Given the description of an element on the screen output the (x, y) to click on. 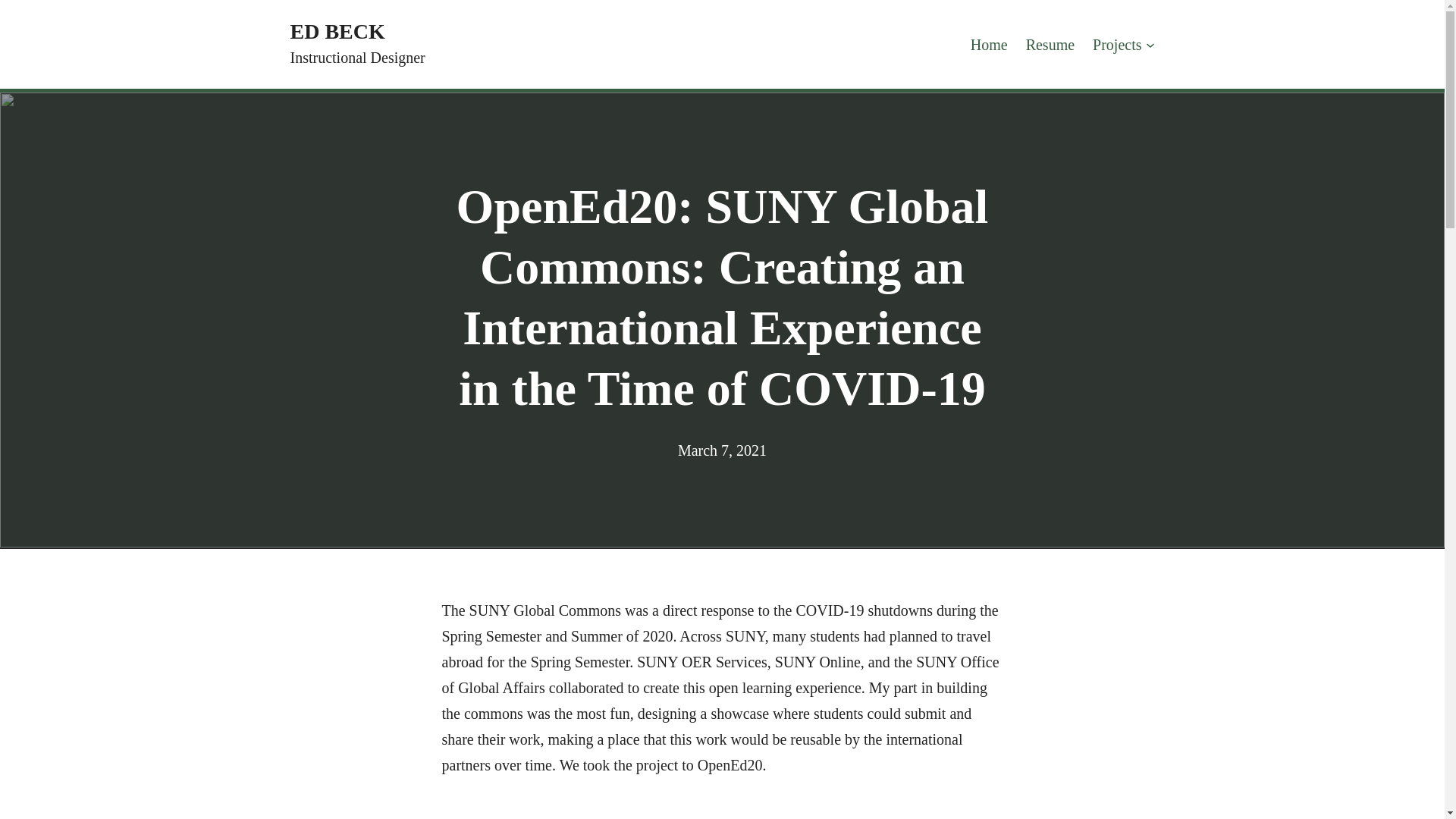
ED BECK (336, 31)
Home (989, 44)
Projects (1117, 44)
Resume (1050, 44)
